Given the description of an element on the screen output the (x, y) to click on. 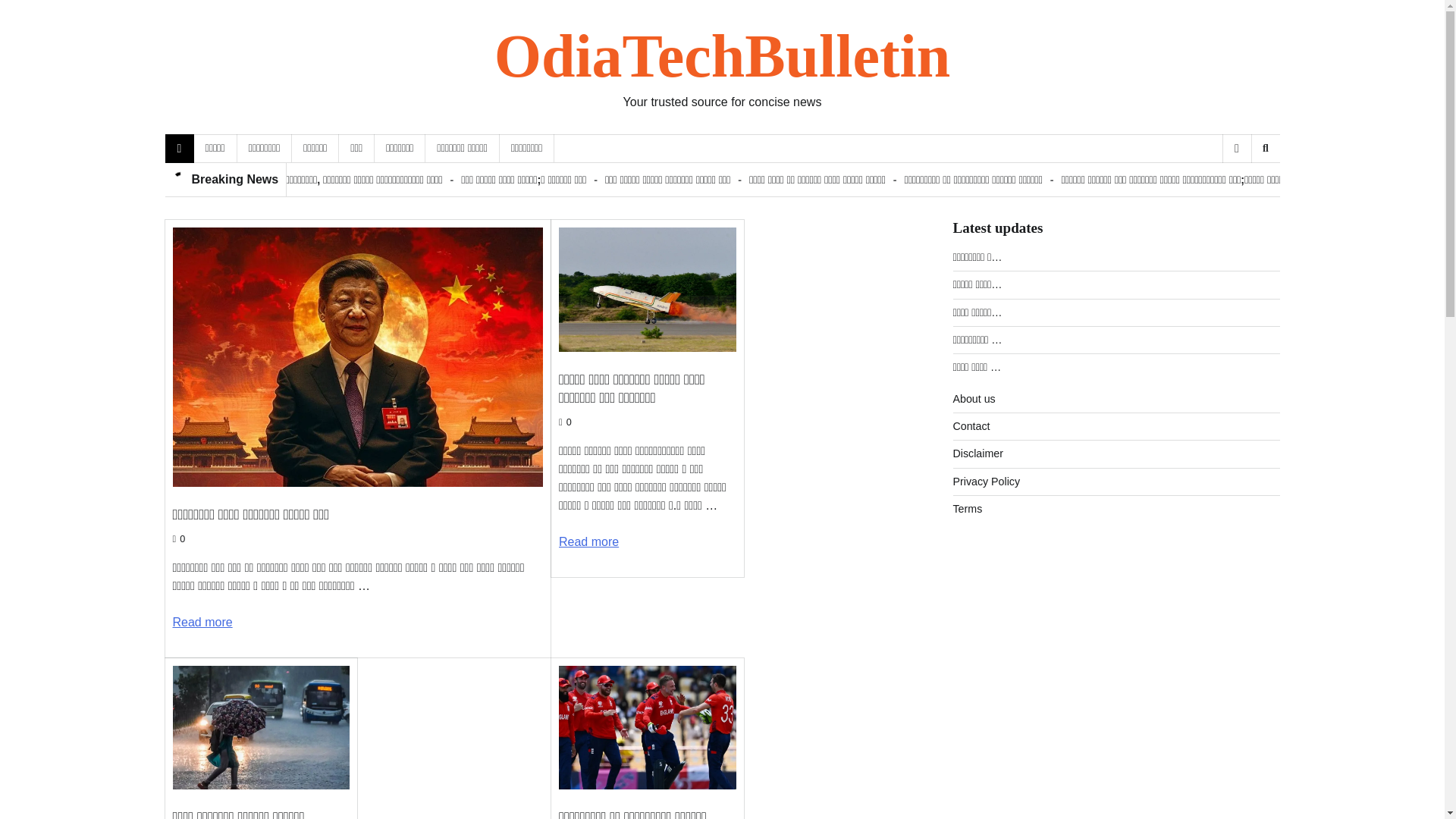
Search (1264, 148)
View Random Post (1236, 148)
Read more (588, 541)
Read more (202, 621)
Search (1240, 187)
OdiaTechBulletin (722, 55)
